Given the description of an element on the screen output the (x, y) to click on. 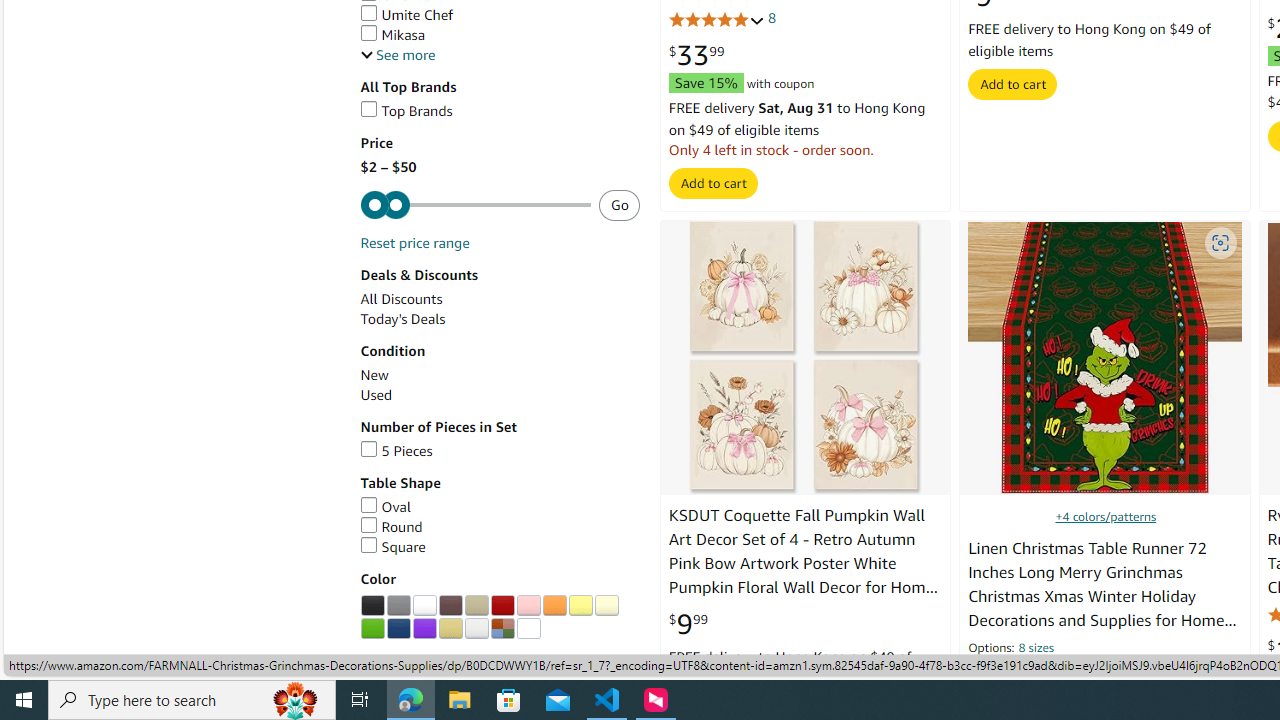
Square (499, 547)
Add to cart (1012, 84)
Go - Submit price range (619, 205)
Orange (554, 605)
Today's Deals (402, 319)
